Given the description of an element on the screen output the (x, y) to click on. 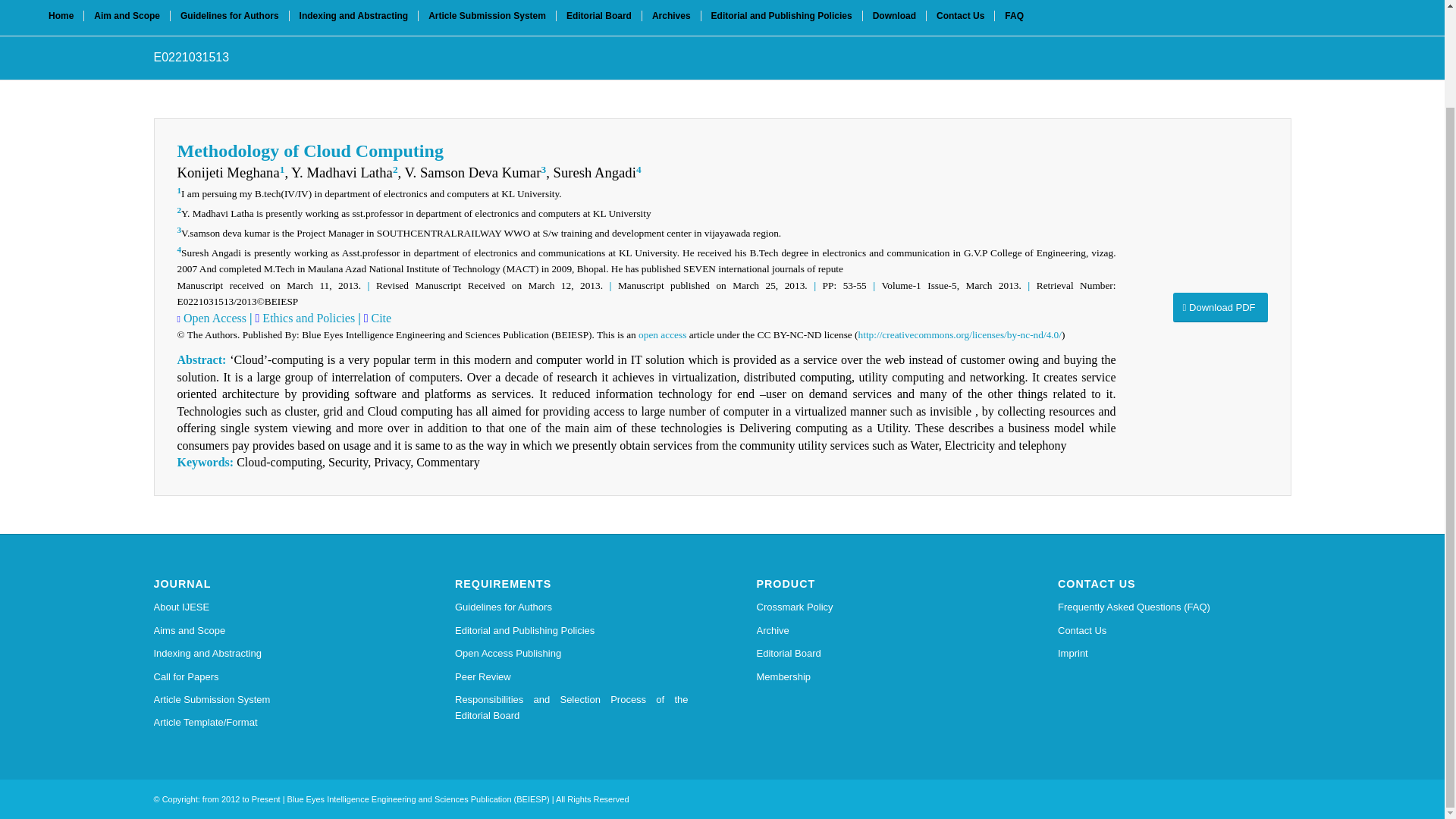
Indexing and Abstracting (269, 653)
Open Access (213, 318)
open access (662, 334)
Permanent Link: E0221031513 (190, 56)
Indexing and Abstracting (353, 17)
Peer Review (571, 676)
Ethics and Policies (307, 318)
Article Submission System (486, 17)
E0221031513 (190, 56)
